Given the description of an element on the screen output the (x, y) to click on. 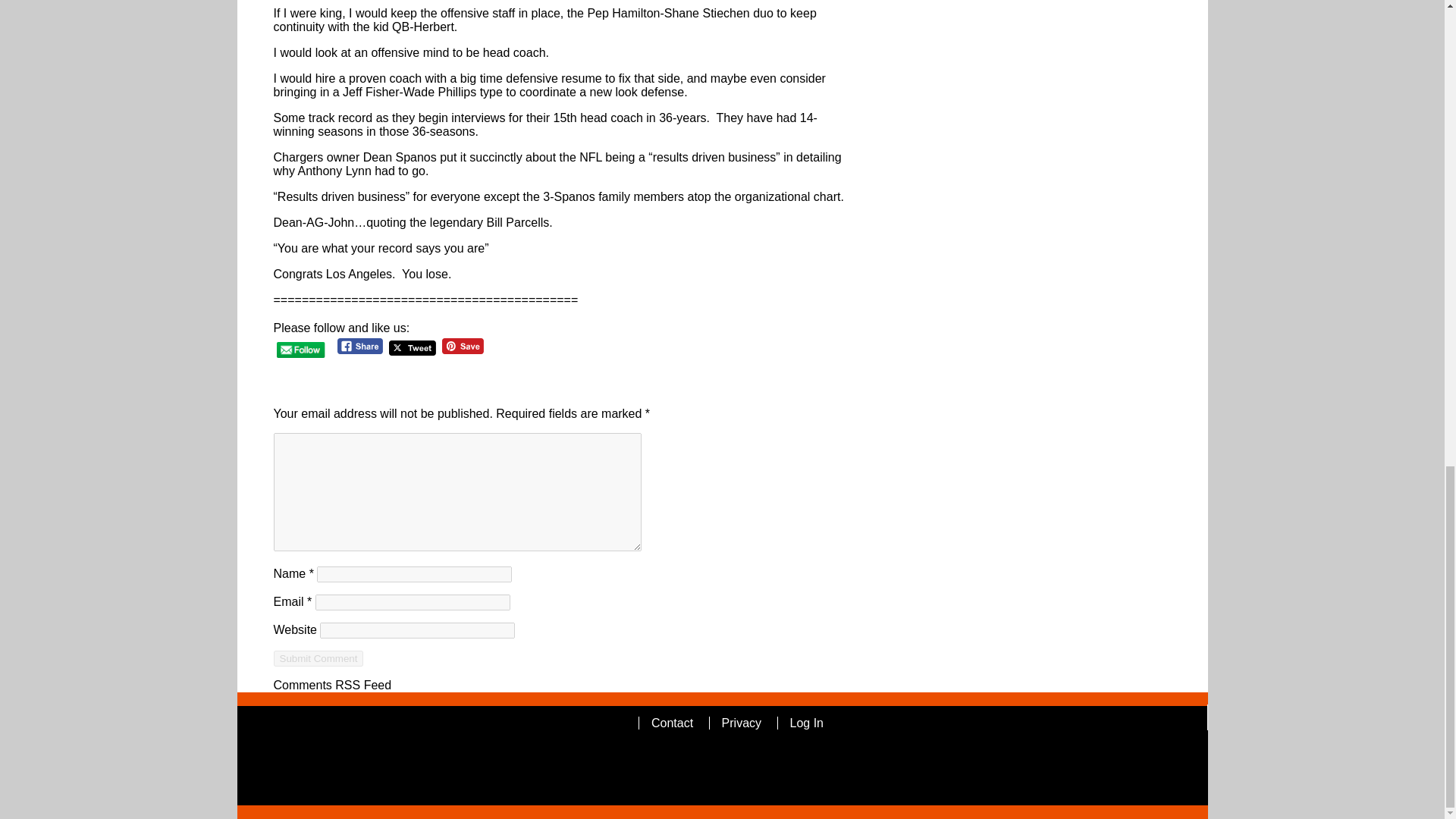
Comments RSS Feed (332, 684)
Tweet (411, 348)
Privacy (741, 722)
Log In (807, 722)
Facebook Share (360, 345)
Submit Comment (317, 658)
Submit Comment (317, 658)
Pin Share (462, 345)
Contact (671, 722)
